Given the description of an element on the screen output the (x, y) to click on. 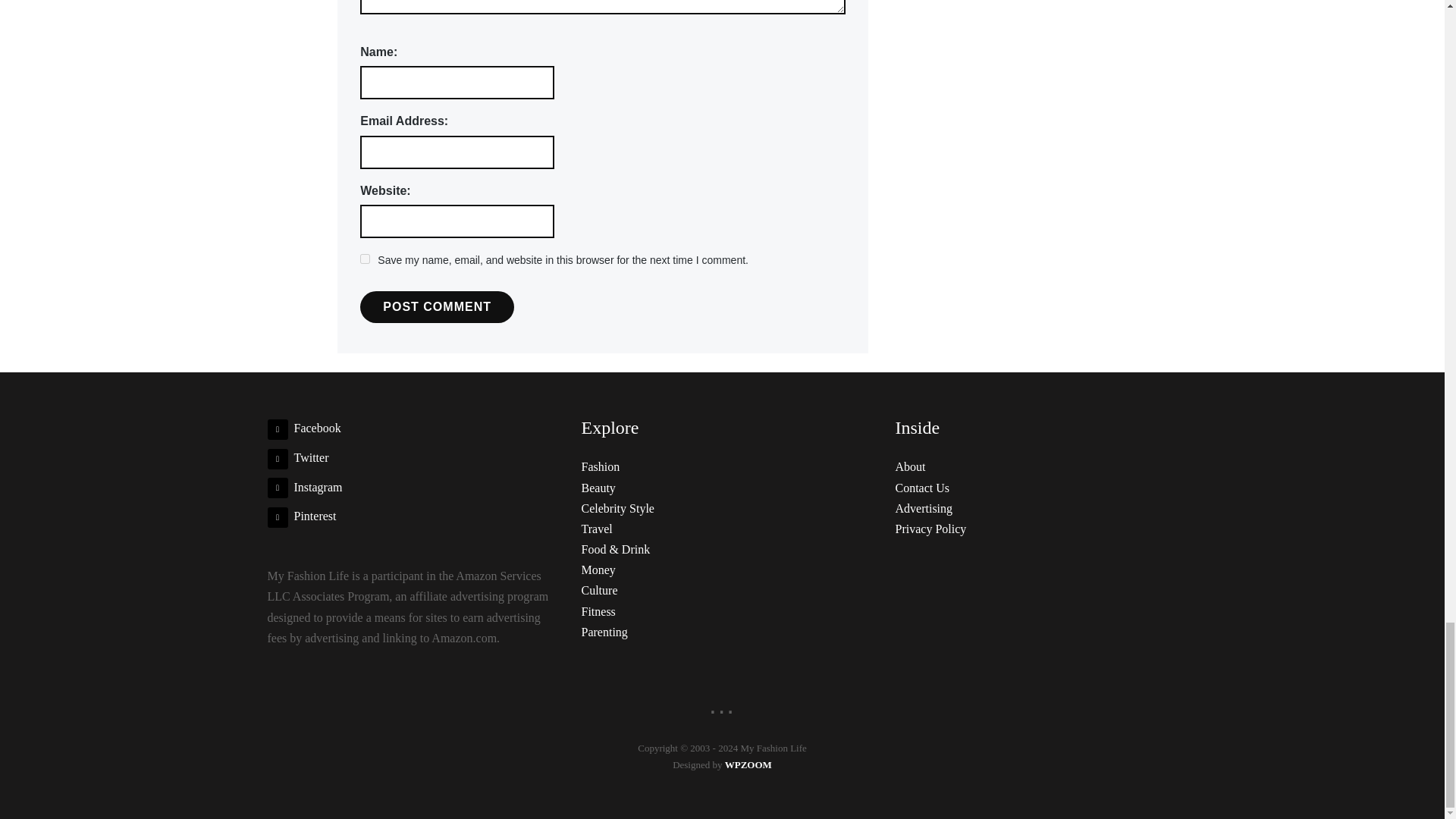
Facebook (303, 427)
Instagram (304, 486)
yes (364, 258)
Post Comment (436, 306)
Pinterest (301, 515)
Twitter (297, 457)
